Given the description of an element on the screen output the (x, y) to click on. 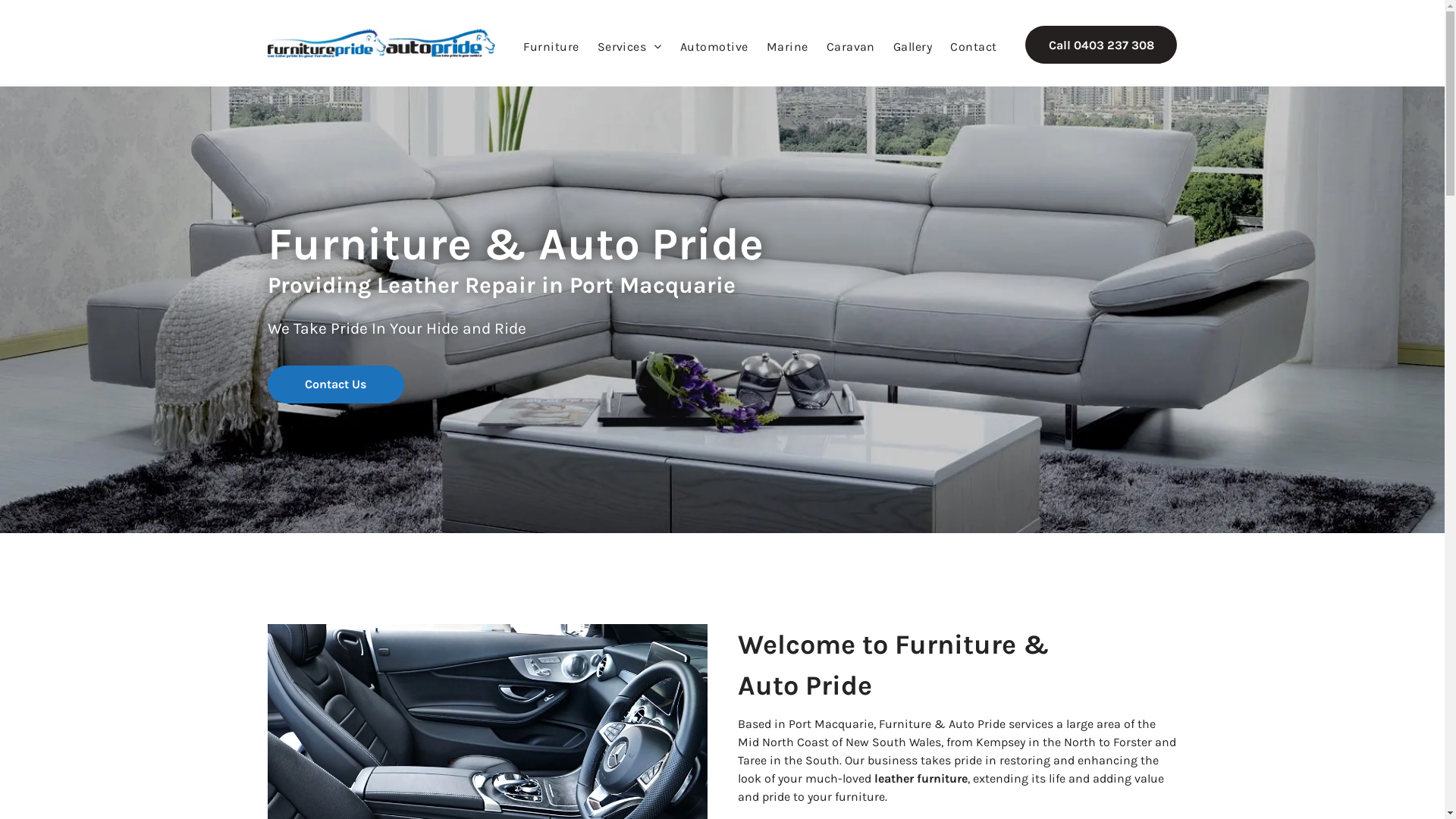
Call 0403 237 308 Element type: text (1100, 44)
Services Element type: text (629, 46)
Caravan Element type: text (850, 46)
Automotive Element type: text (714, 46)
Contact Element type: text (973, 46)
Gallery Element type: text (912, 46)
Marine Element type: text (787, 46)
Furniture Element type: text (550, 46)
leather furniture Element type: text (919, 778)
Contact Us Element type: text (334, 384)
